Given the description of an element on the screen output the (x, y) to click on. 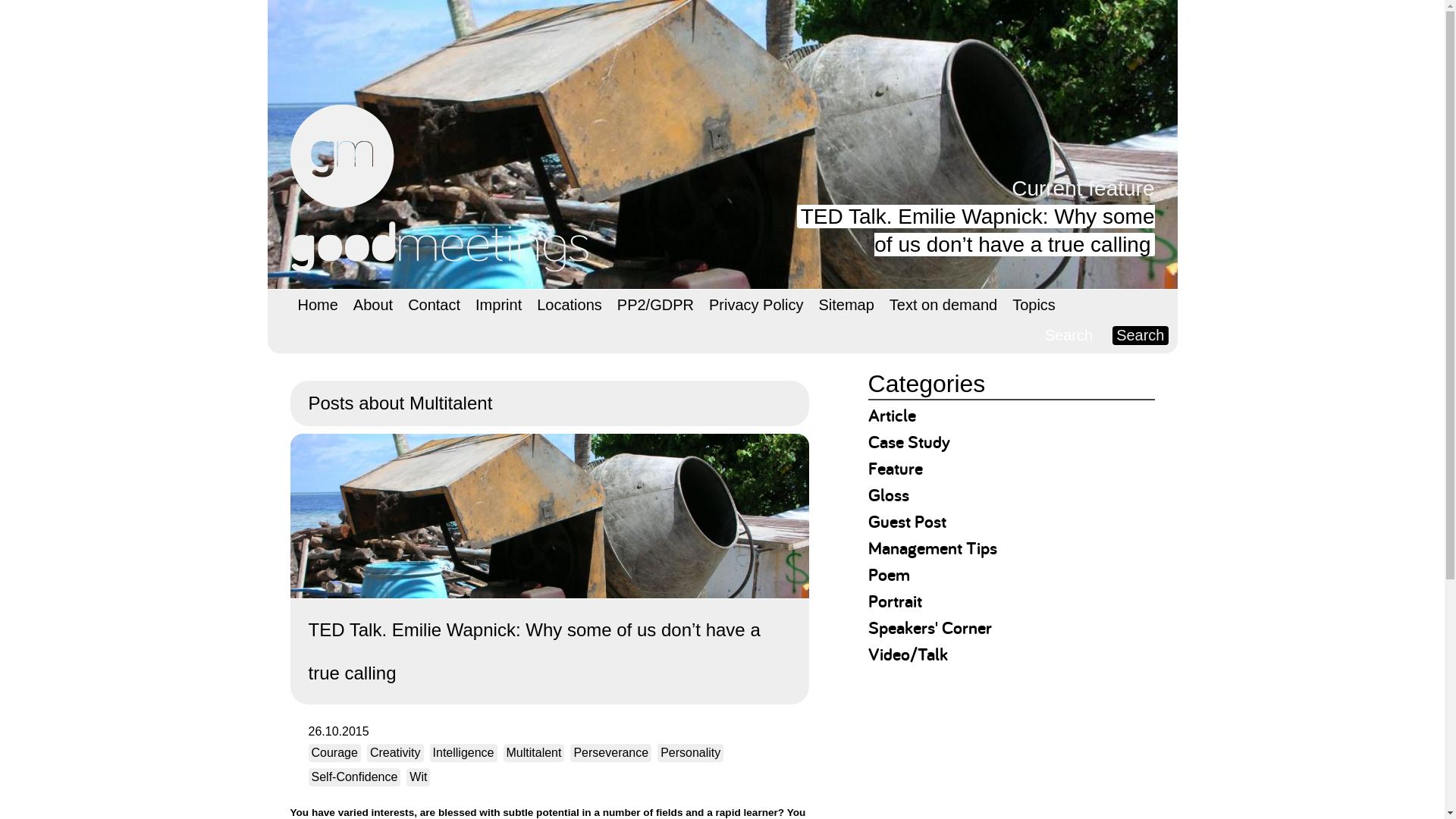
Search (1139, 334)
Sitemap (845, 304)
Perseverance (610, 752)
Search (1139, 334)
Gloss (887, 494)
Topics (1033, 304)
Poem (888, 574)
Intelligence (463, 752)
Home (317, 304)
Multitalent (533, 752)
Portrait (894, 600)
Creativity (394, 752)
Case Study (908, 441)
Management Tips (932, 547)
About (373, 304)
